Given the description of an element on the screen output the (x, y) to click on. 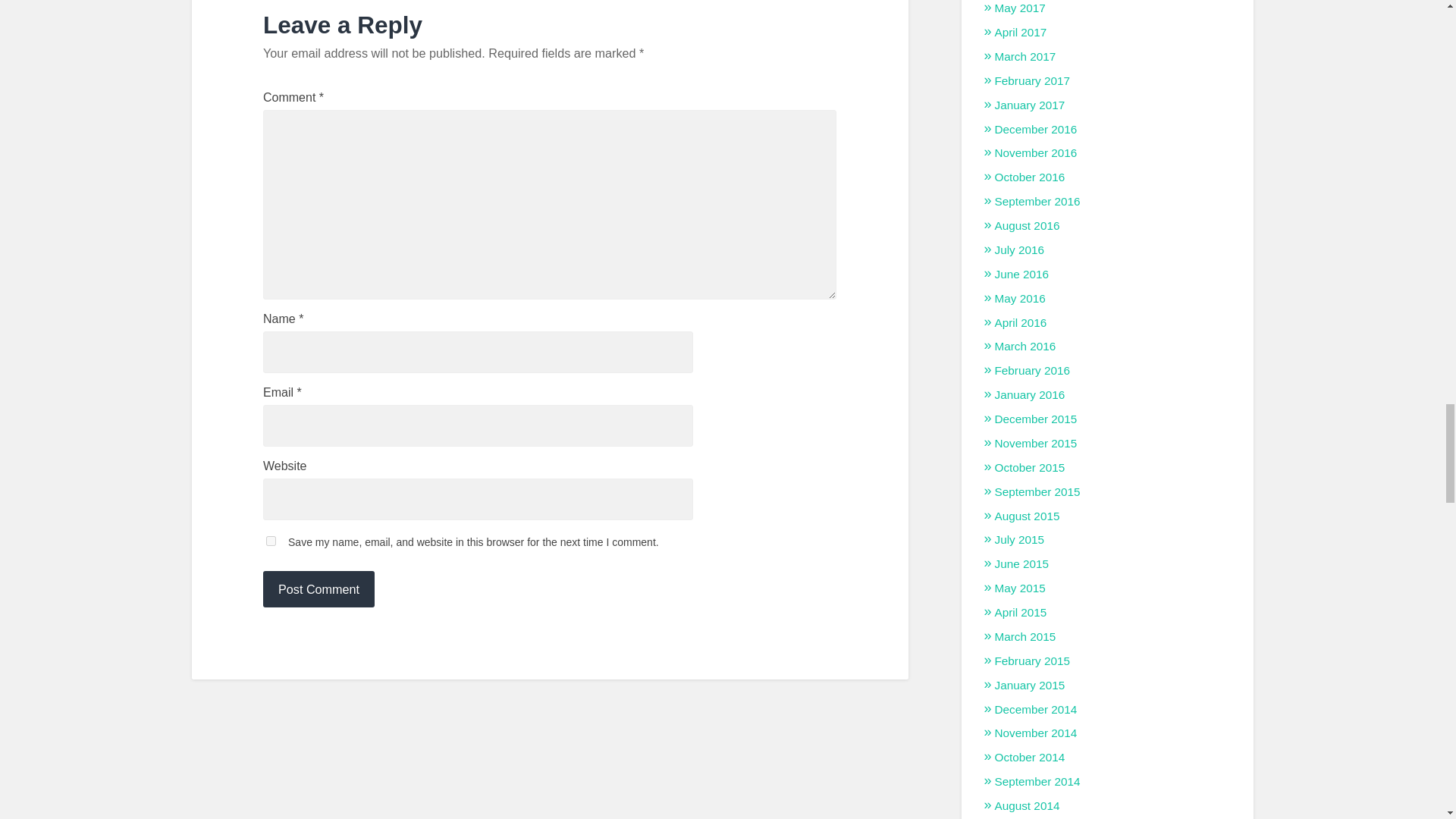
Post Comment (318, 588)
yes (271, 541)
Post Comment (318, 588)
